Given the description of an element on the screen output the (x, y) to click on. 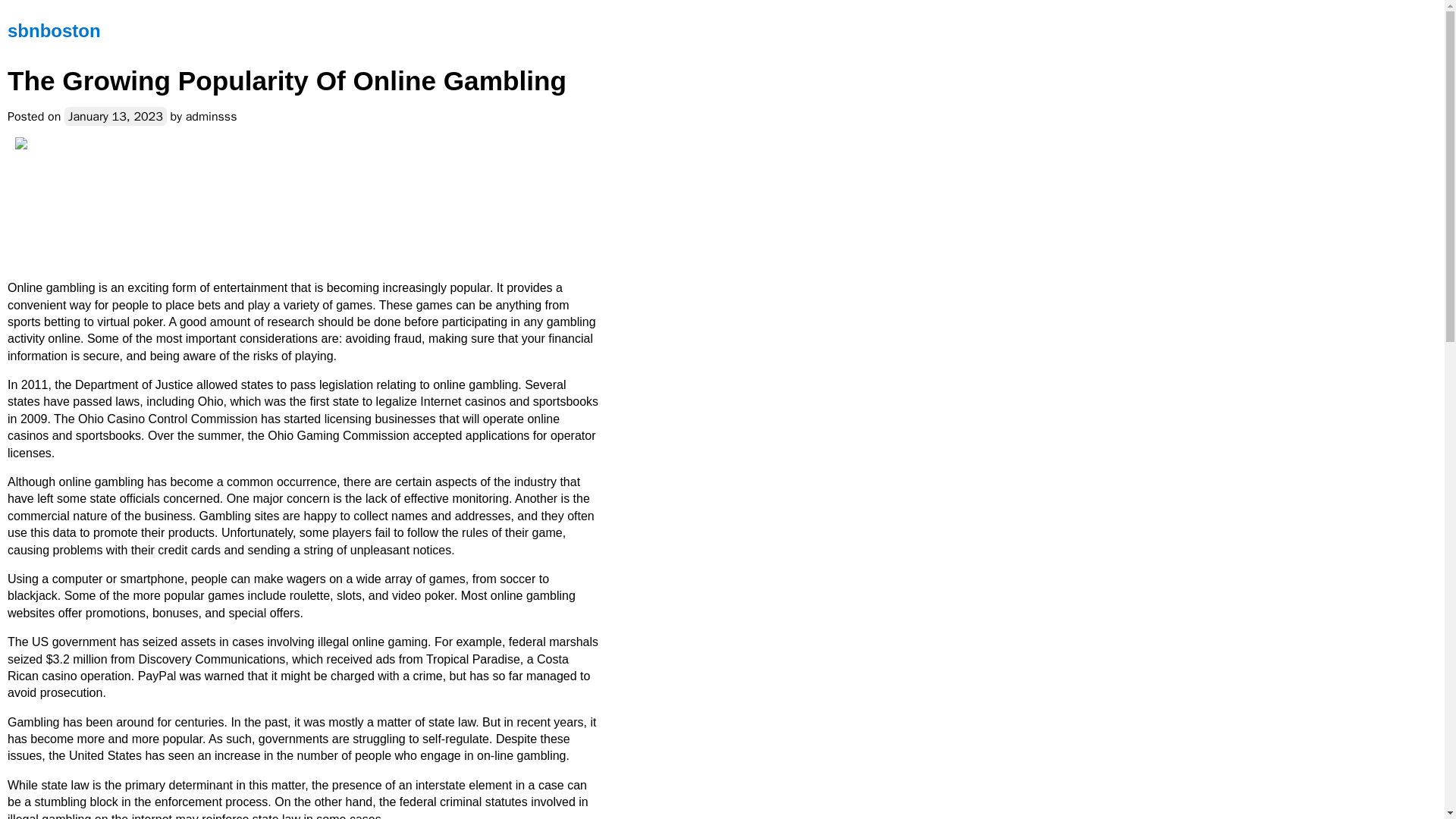
sbnboston (53, 30)
January 13, 2023 (115, 116)
adminsss (211, 116)
